Given the description of an element on the screen output the (x, y) to click on. 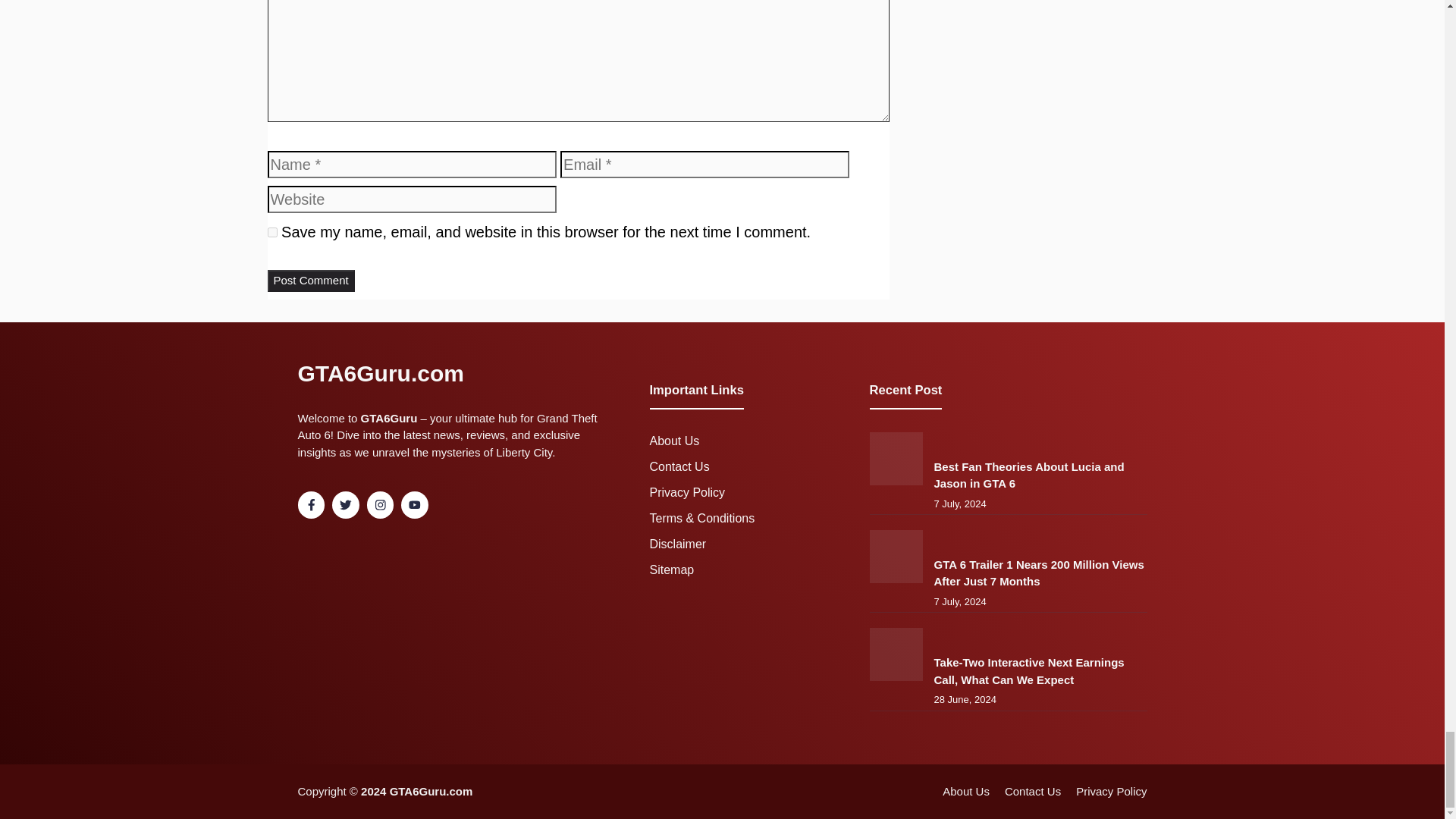
yes (271, 232)
Post Comment (309, 280)
Post Comment (309, 280)
About Us (673, 440)
